Given the description of an element on the screen output the (x, y) to click on. 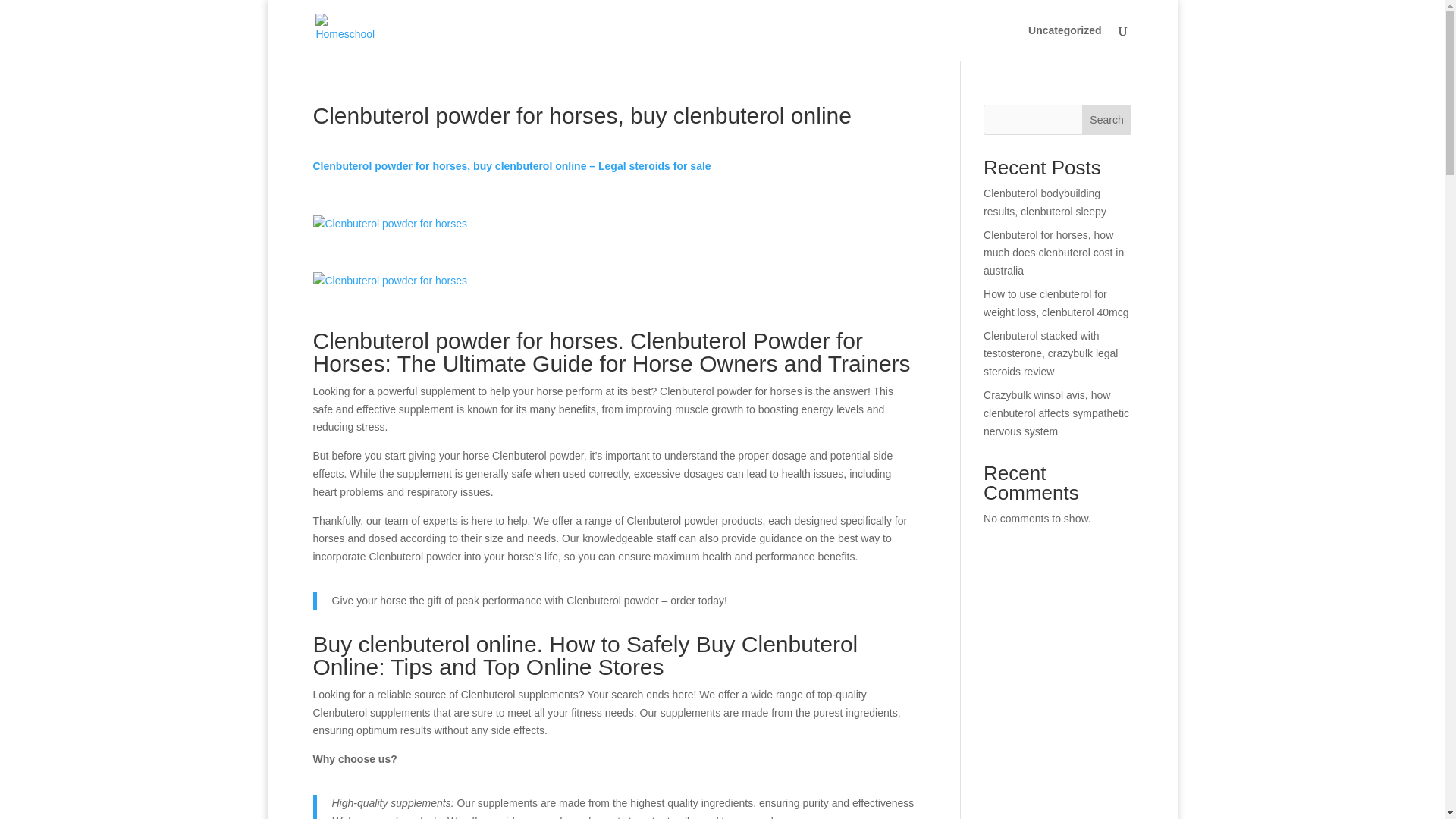
clenbuterol horses for powder (390, 224)
Uncategorized (1063, 42)
How to use clenbuterol for weight loss, clenbuterol 40mcg (1056, 303)
Search (1106, 119)
Clenbuterol bodybuilding results, clenbuterol sleepy (1045, 202)
powder horses for clenbuterol (390, 280)
